Given the description of an element on the screen output the (x, y) to click on. 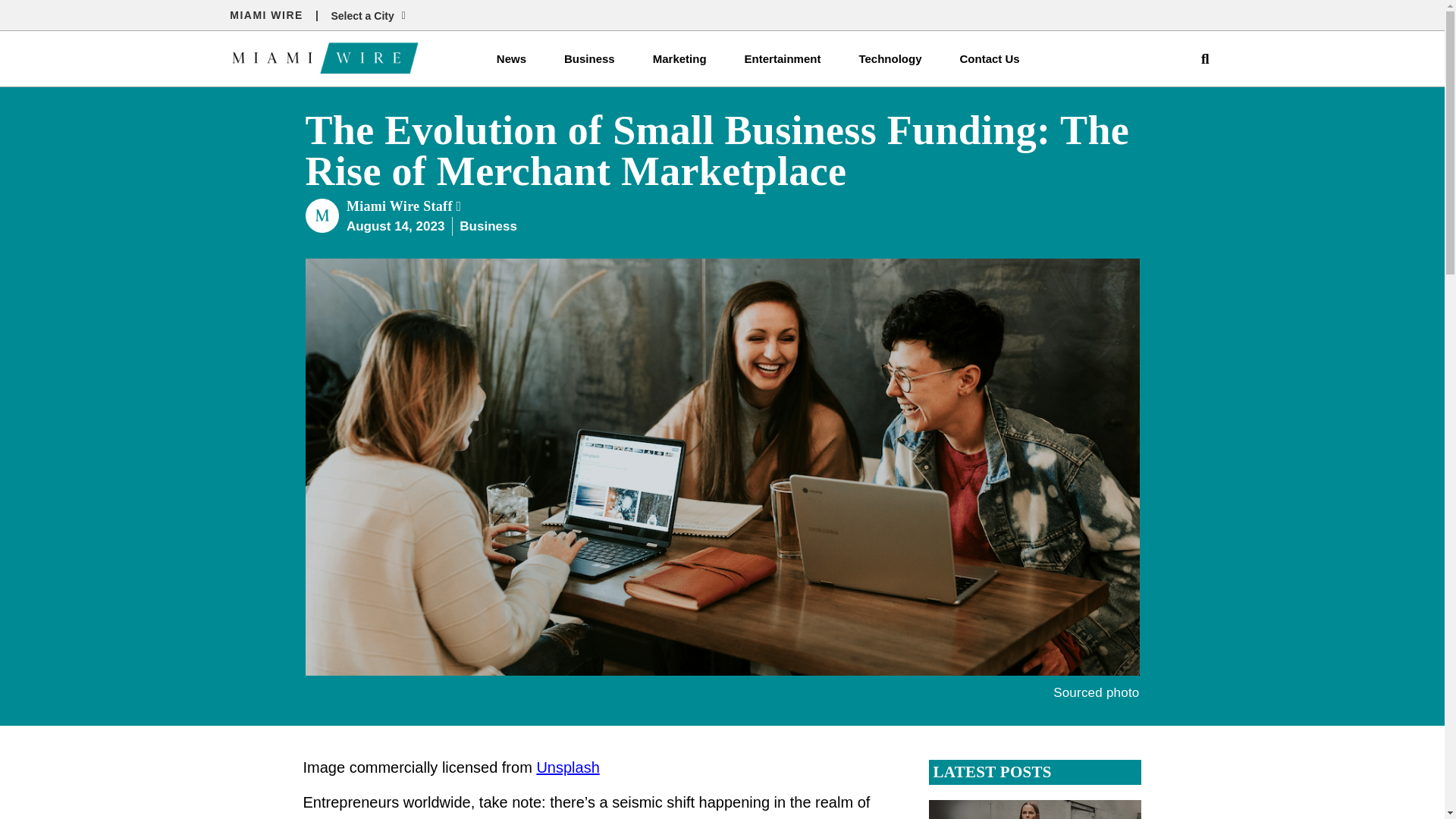
Marketing (679, 58)
Search (1198, 58)
Contact Us (989, 58)
Entertainment (782, 58)
Select a City (367, 16)
Business (588, 58)
Miami Wire Staff (403, 206)
Unsplash (566, 767)
News (510, 58)
August 14, 2023 (395, 226)
Technology (890, 58)
Business (488, 226)
